Given the description of an element on the screen output the (x, y) to click on. 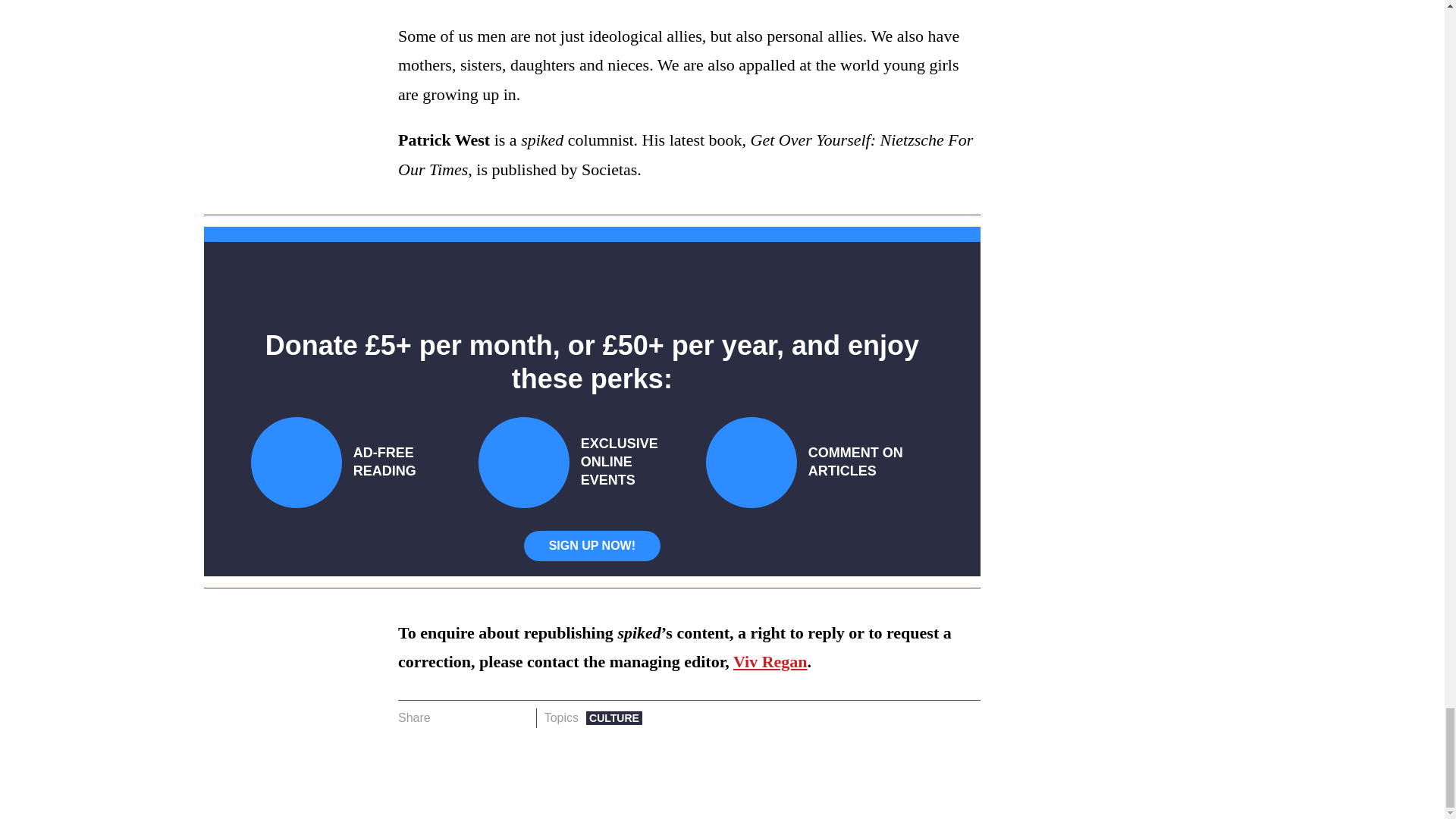
Share on Twitter (471, 718)
Share on Facebook (448, 718)
Share on Whatsapp (494, 718)
Share on Email (518, 718)
